Given the description of an element on the screen output the (x, y) to click on. 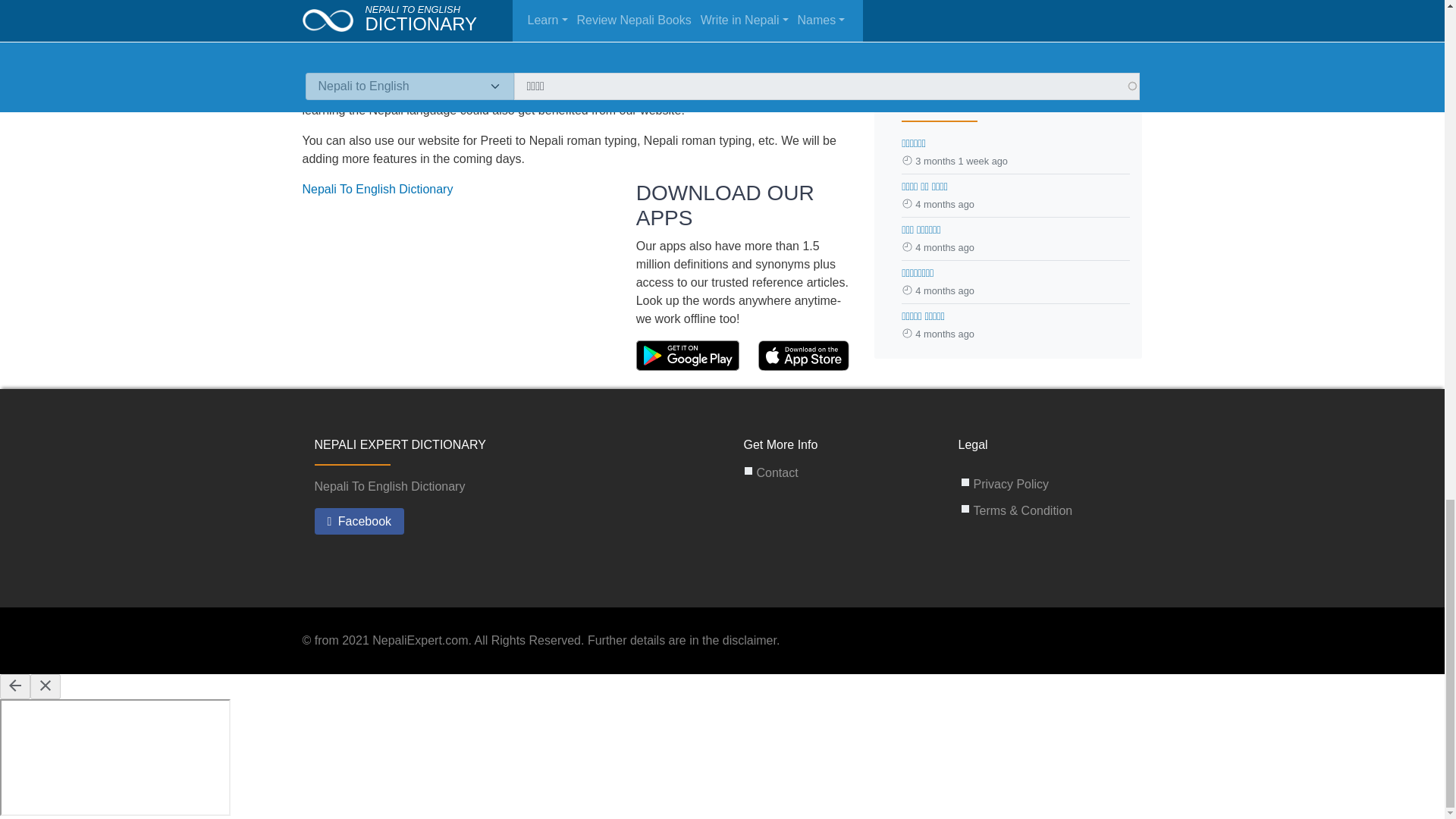
Created with sketchtool. (687, 355)
Nepali to English Dictionary on Apple (803, 354)
Nepali to English Dictionary on Google Play (689, 354)
Nepali To English Dictionary (376, 187)
Like us on Facebook (359, 521)
